Given the description of an element on the screen output the (x, y) to click on. 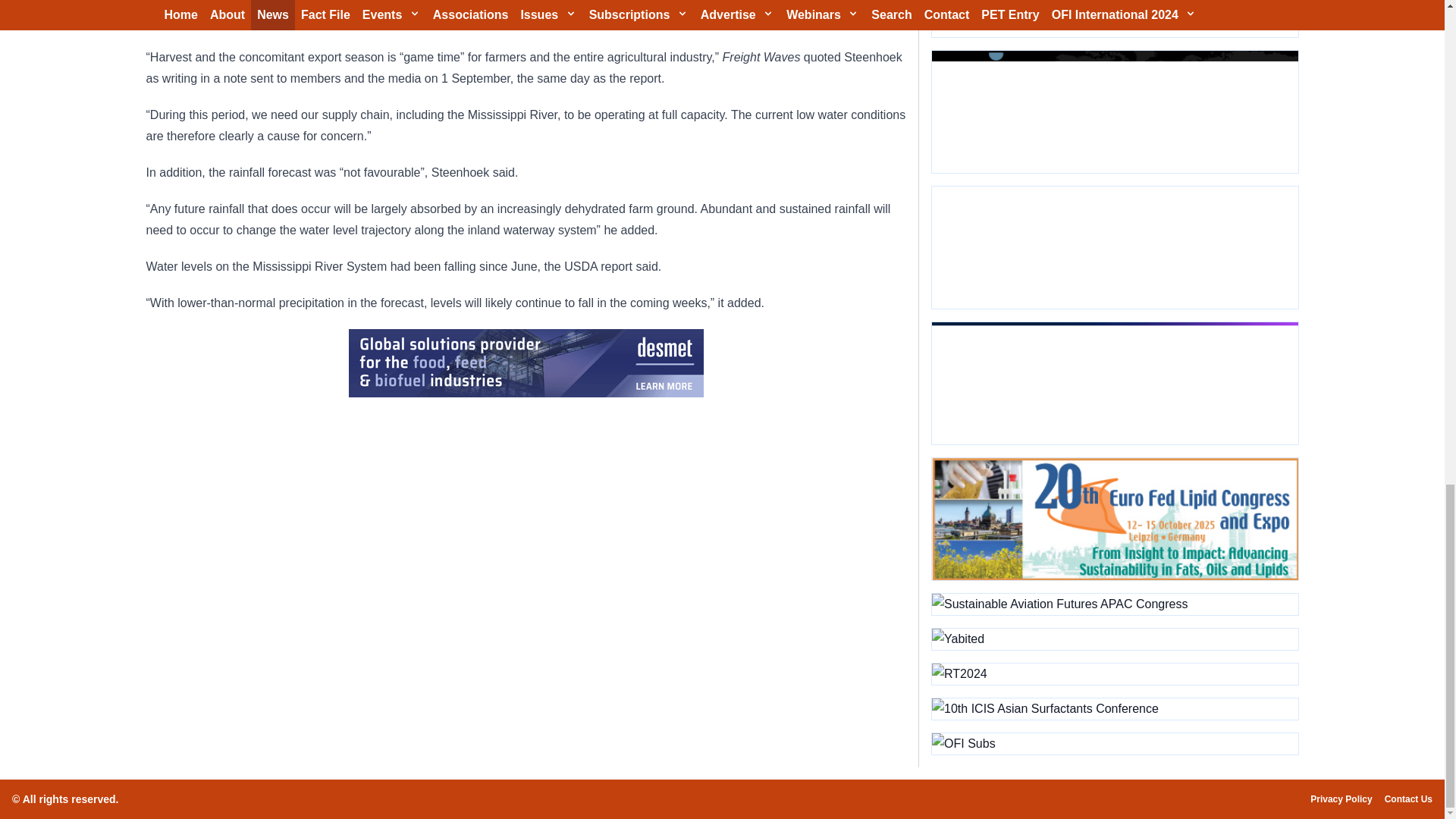
Yabited (1114, 639)
2nd Berlin Symposium 2024 (1114, 247)
ICIS Pan American Oleochemicals Conference (1114, 383)
Sustainable Aviation Futures APAC Congress (1114, 604)
Globoil 2024 (1114, 18)
RT2024 (1114, 673)
Desmet 2022-4 footer banner (525, 363)
10th ICIS Asian Surfactants Conference (1114, 708)
Euro Fed Lipid 2025 (1114, 518)
Sustainable Aviation Futures North America Congress (1114, 111)
